Given the description of an element on the screen output the (x, y) to click on. 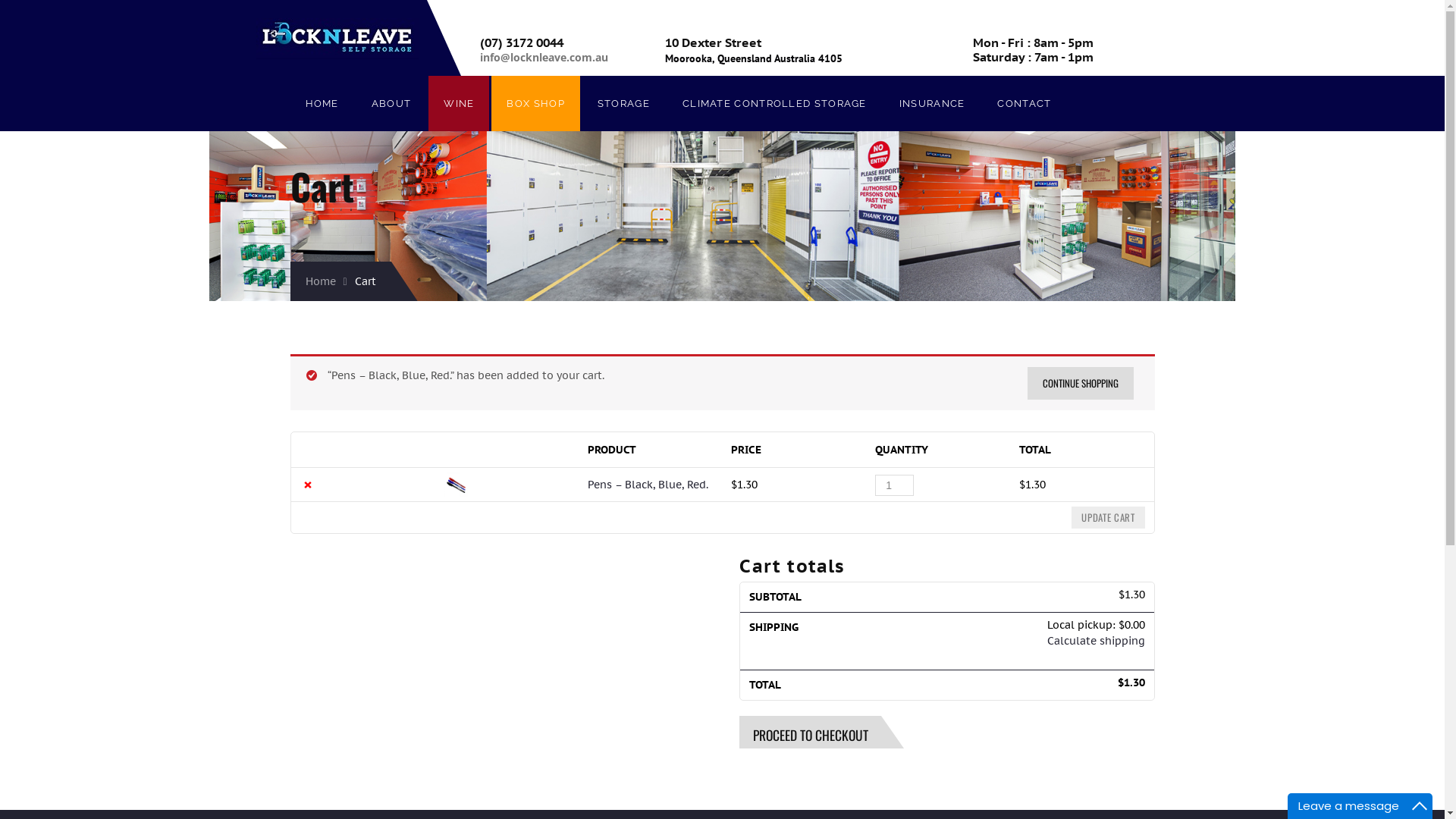
CLIMATE CONTROLLED STORAGE Element type: text (774, 103)
info@locknleave.com.au Element type: text (544, 57)
BOX SHOP Element type: text (535, 103)
(07) 3172 0044 Element type: text (549, 42)
Calculate shipping Element type: text (1095, 640)
Home Element type: text (325, 281)
WINE Element type: text (458, 103)
Qty Element type: hover (894, 484)
UPDATE CART Element type: text (1107, 517)
CONTINUE SHOPPING Element type: text (1079, 383)
ABOUT Element type: text (391, 103)
PROCEED TO CHECKOUT Element type: text (810, 731)
STORAGE Element type: text (623, 103)
Maximize Element type: hover (1419, 806)
HOME Element type: text (321, 103)
CONTACT Element type: text (1024, 103)
INSURANCE Element type: text (932, 103)
